Given the description of an element on the screen output the (x, y) to click on. 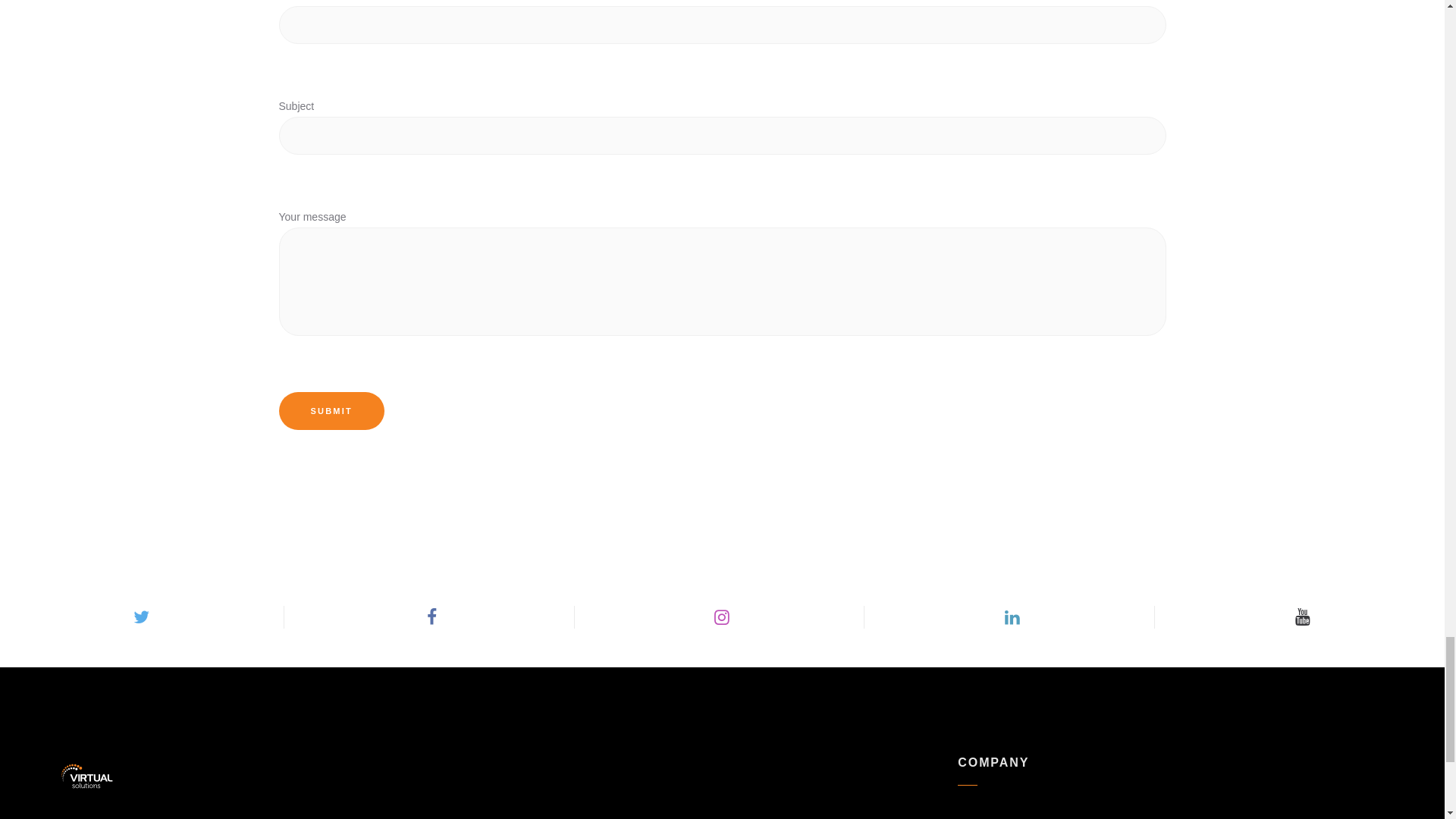
Submit (331, 410)
Submit (331, 410)
